Given the description of an element on the screen output the (x, y) to click on. 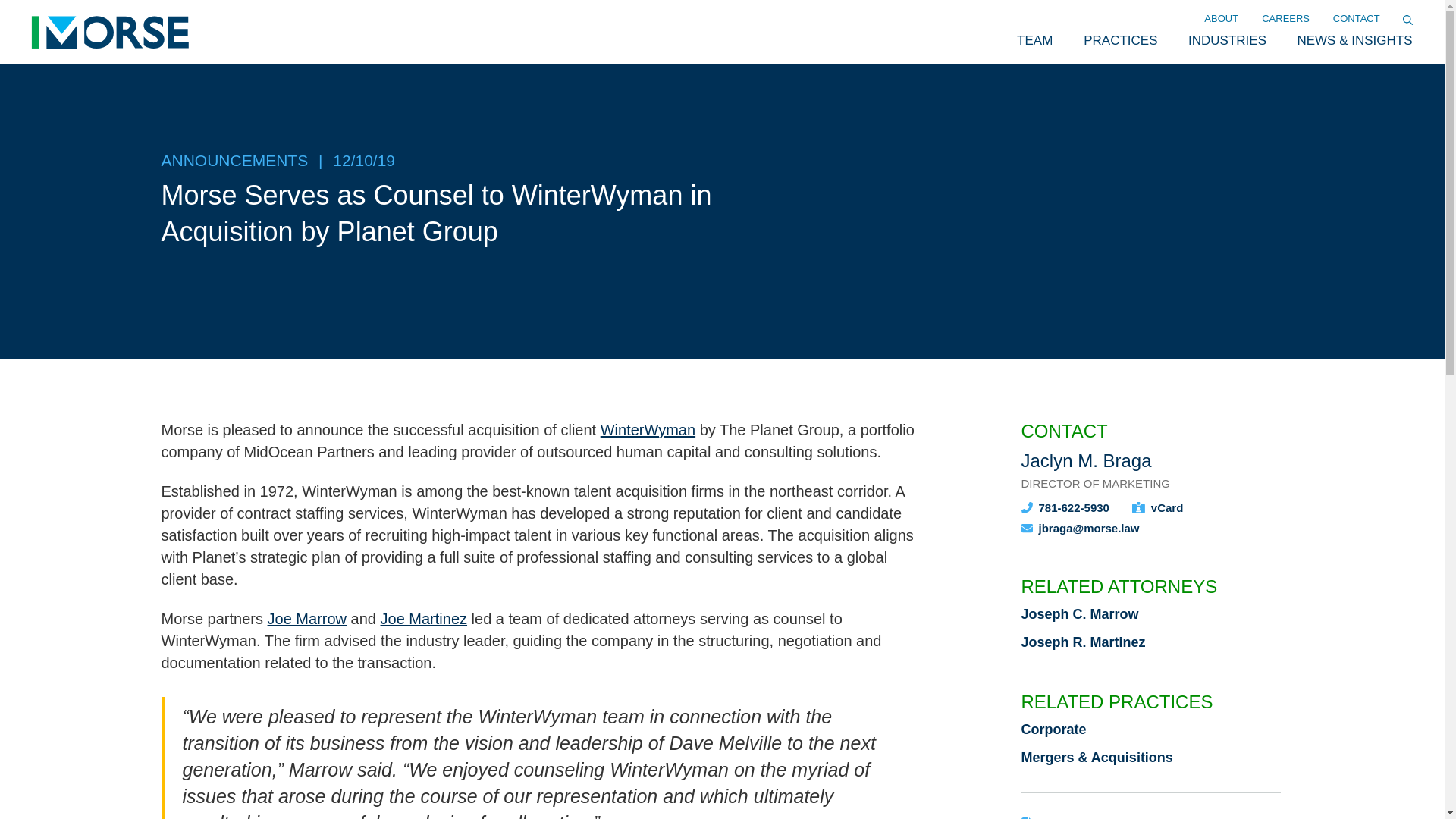
Search (16, 6)
WinterWyman (647, 429)
TEAM (1034, 41)
CONTACT (1356, 19)
INDUSTRIES (1227, 41)
ABOUT (1221, 19)
CAREERS (1286, 19)
PRACTICES (1120, 41)
